Given the description of an element on the screen output the (x, y) to click on. 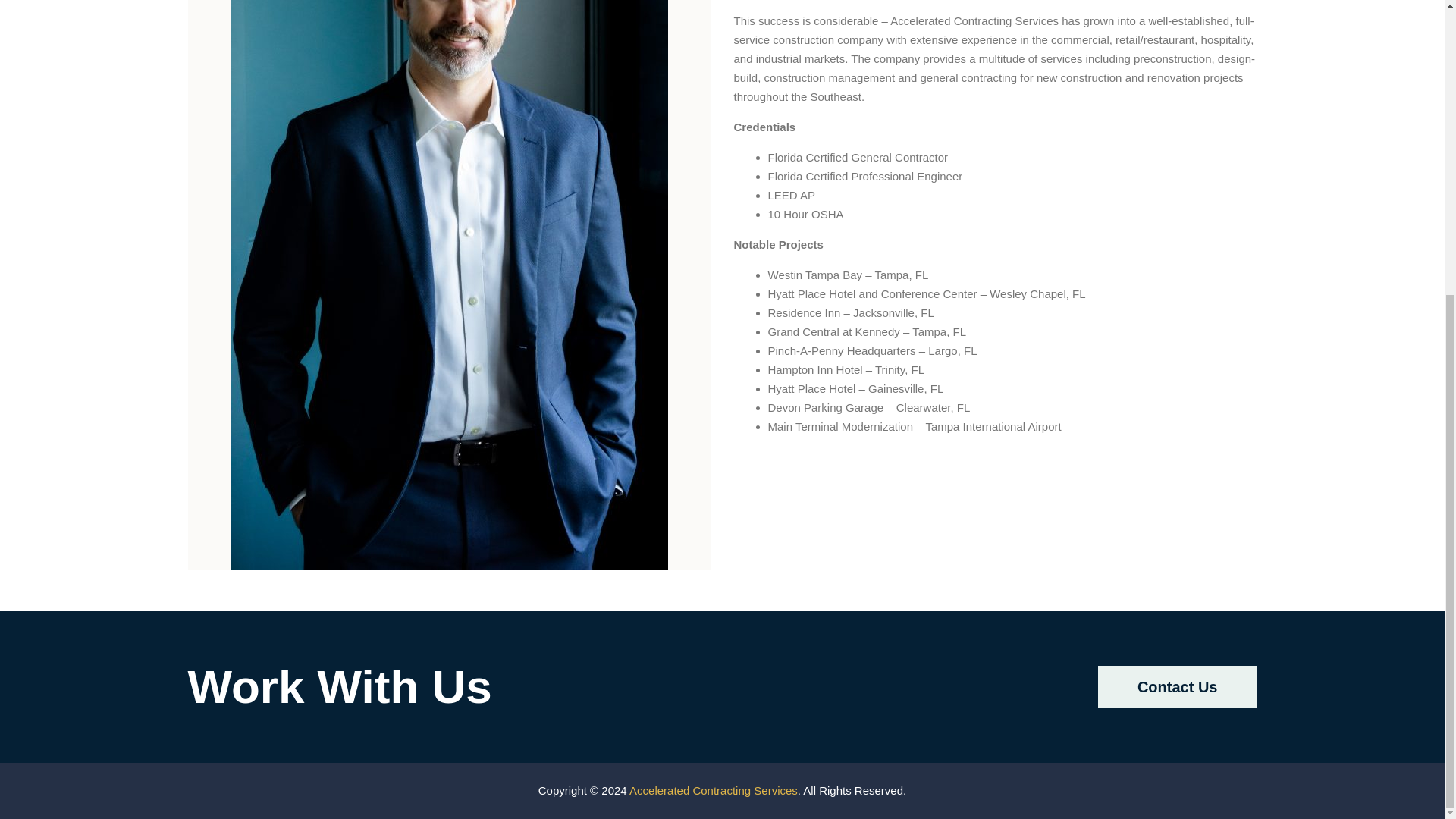
Accelerated Contracting Services (712, 789)
Contact Us (1177, 687)
